Given the description of an element on the screen output the (x, y) to click on. 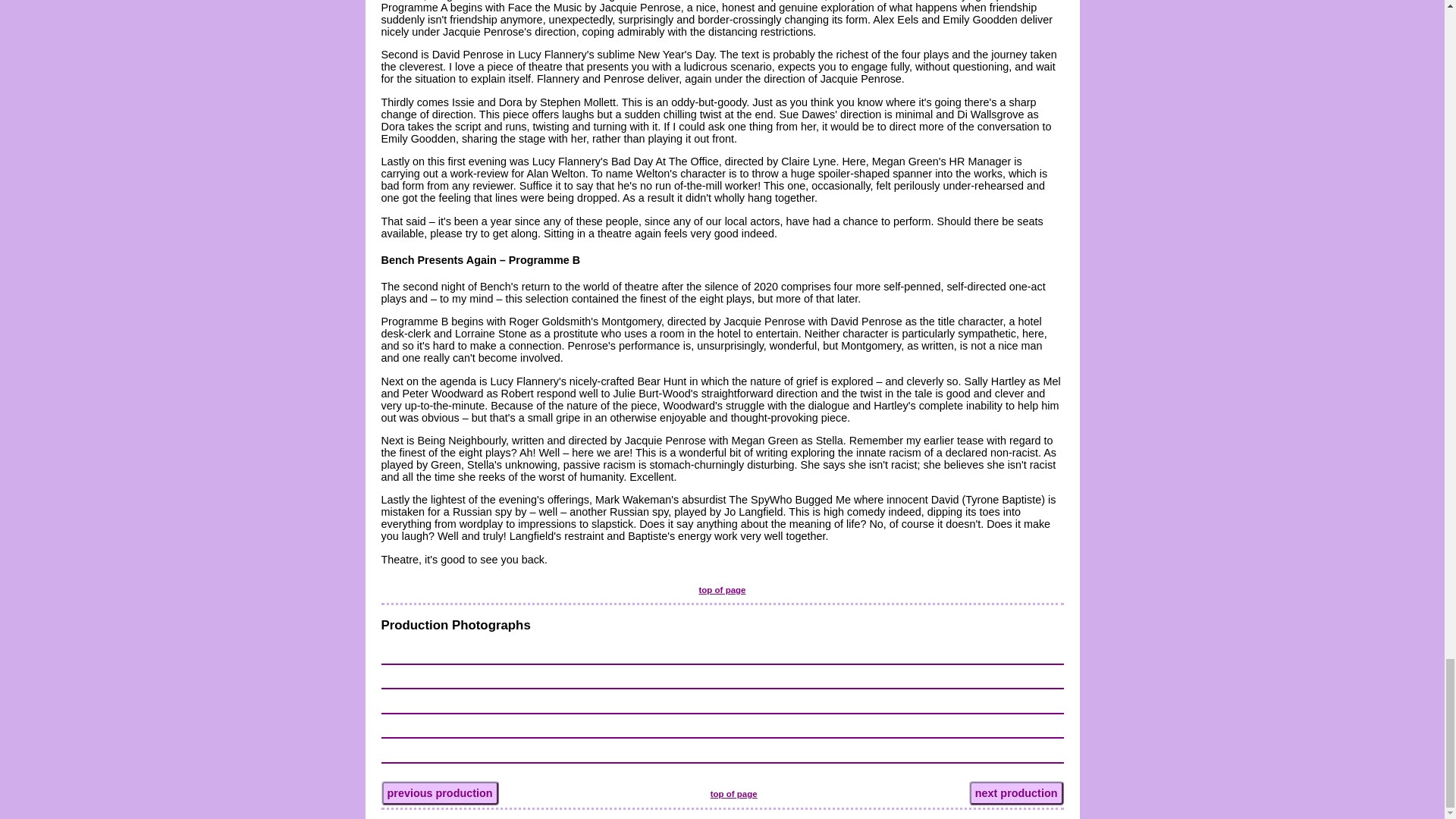
previous production (438, 793)
next production (1016, 793)
top of page (733, 793)
top of page (721, 589)
